Given the description of an element on the screen output the (x, y) to click on. 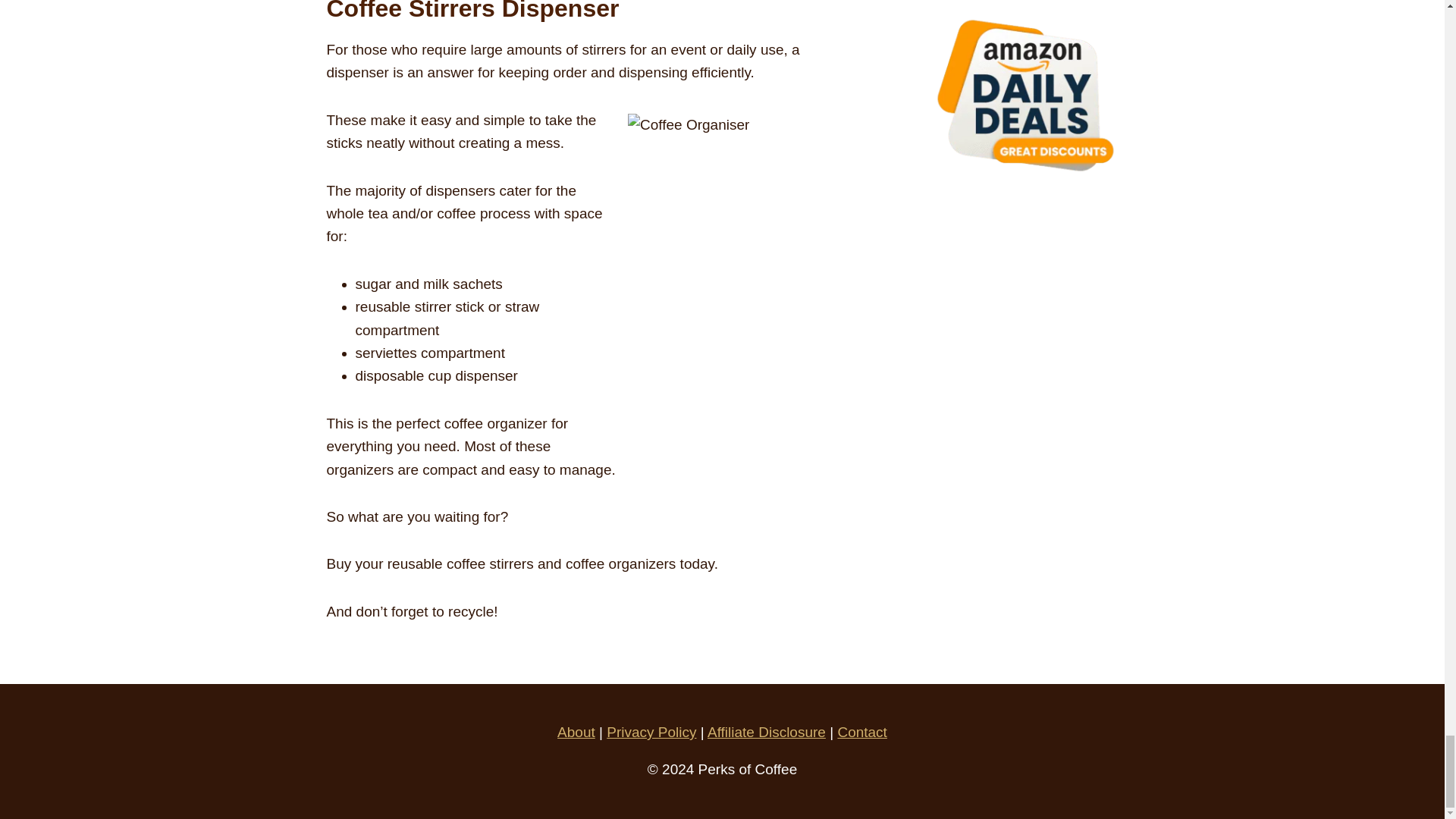
About (576, 731)
Affiliate Disclosure (766, 731)
Contact (861, 731)
Privacy Policy (651, 731)
